Given the description of an element on the screen output the (x, y) to click on. 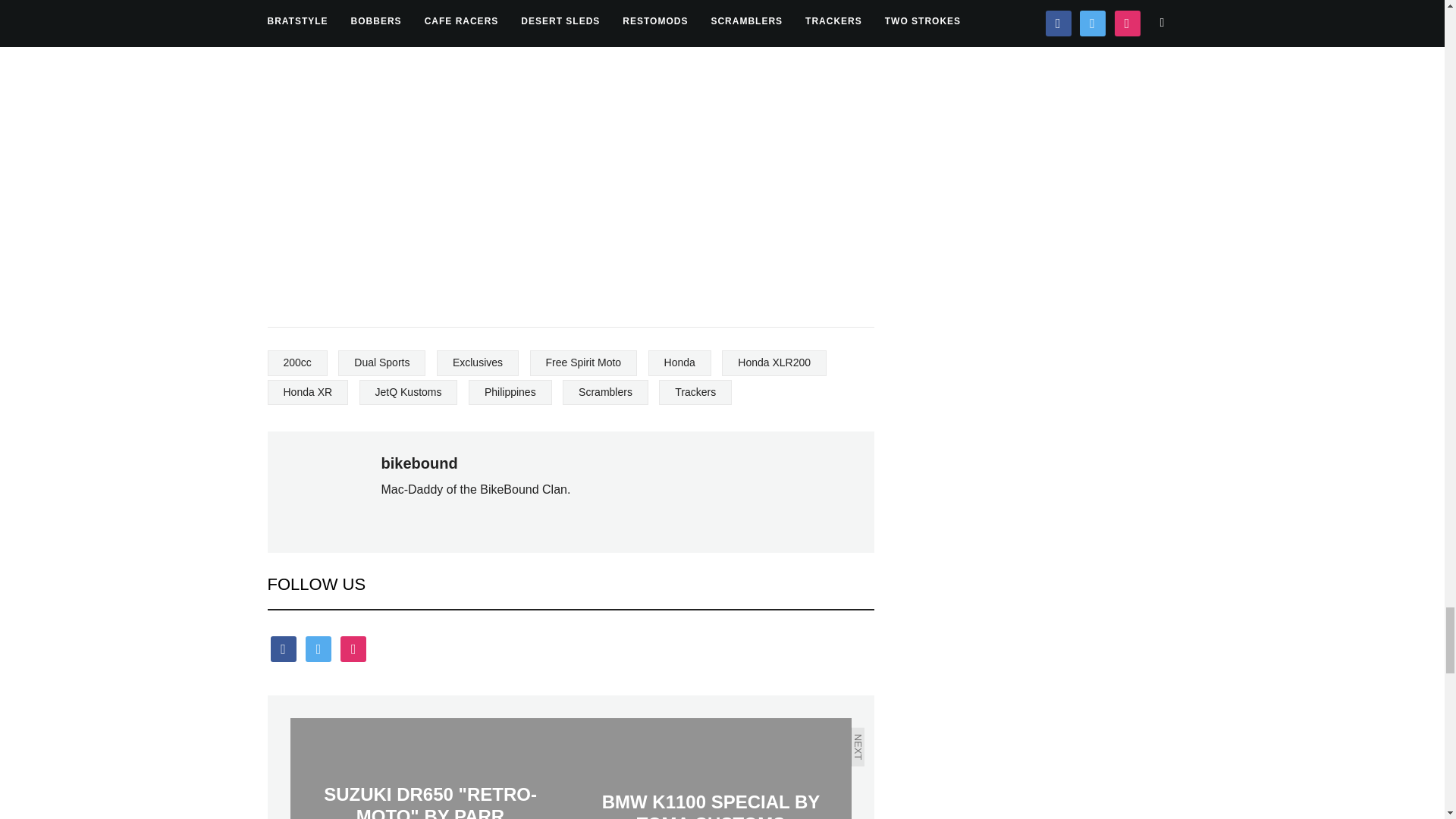
Facebook (282, 647)
BMW K1100 Special by TOMA Customs (710, 768)
Posts by bikebound (418, 463)
Twitter (318, 647)
Suzuki DR650  (429, 768)
Instagram (353, 647)
